Given the description of an element on the screen output the (x, y) to click on. 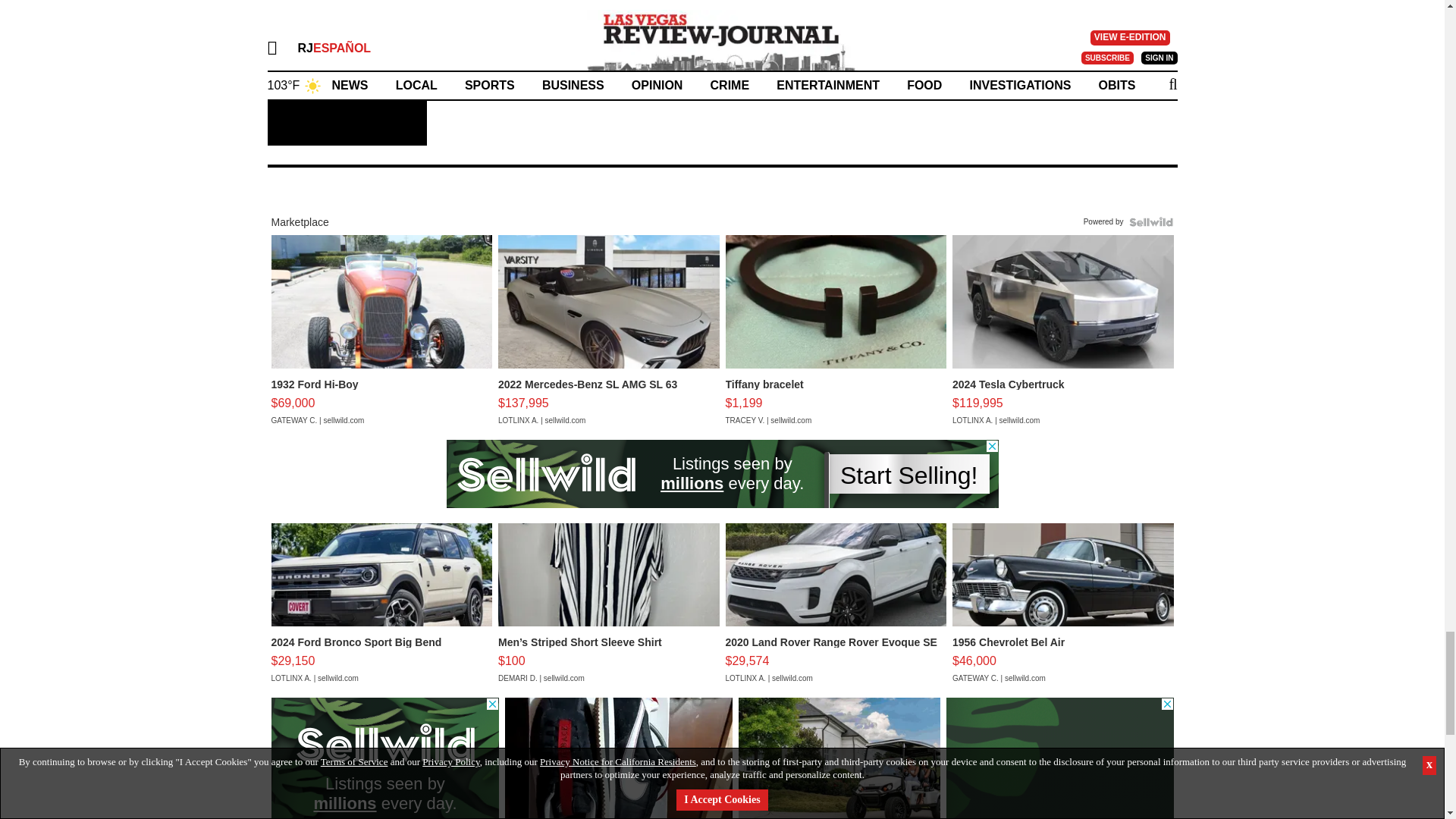
3rd party ad content (721, 473)
3rd party ad content (1059, 758)
3rd party ad content (384, 758)
